Given the description of an element on the screen output the (x, y) to click on. 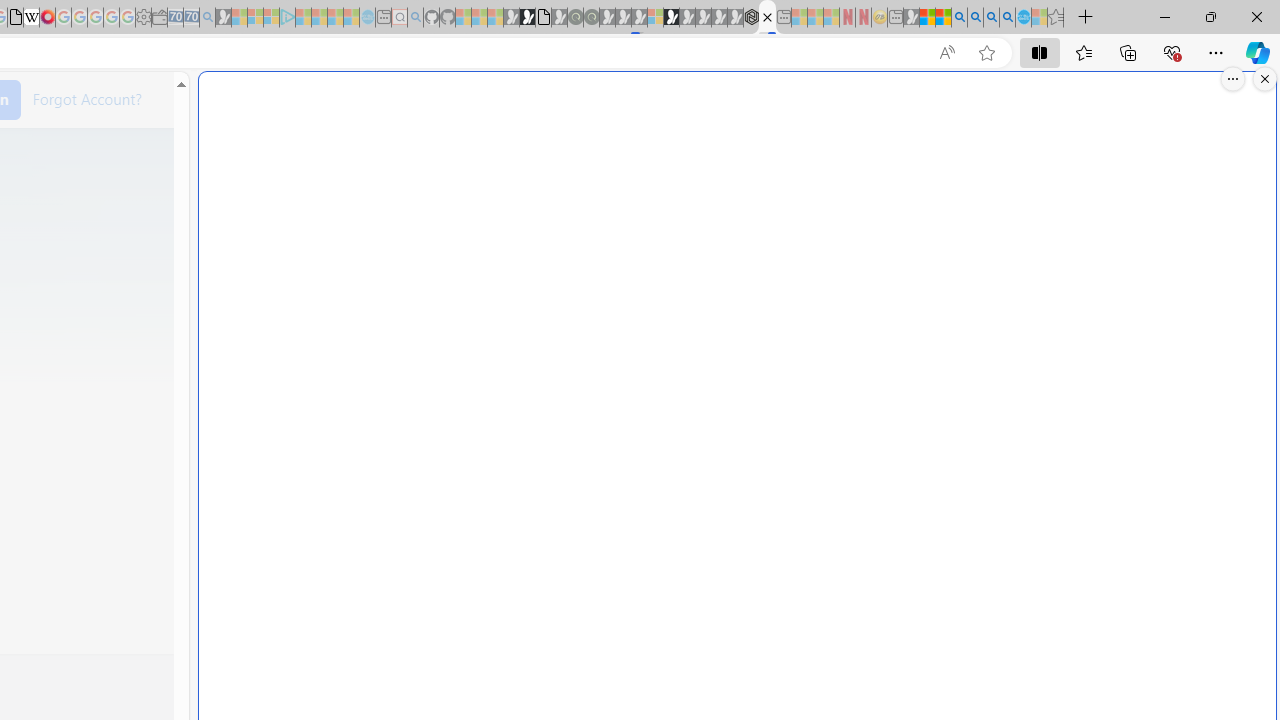
AirNow.gov (767, 17)
More options. (1233, 79)
Nordace - Cooler Bags (751, 17)
Favorites - Sleeping (1055, 17)
